Given the description of an element on the screen output the (x, y) to click on. 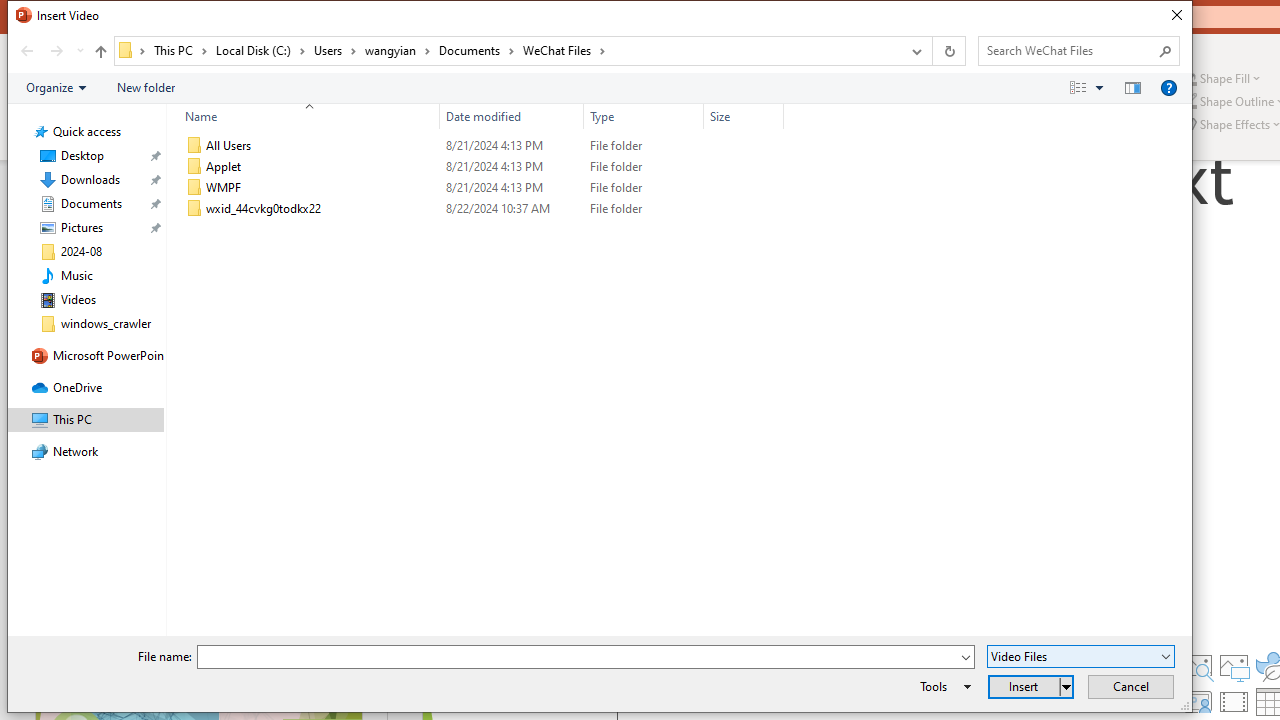
All locations (132, 50)
Navigation buttons (50, 51)
Forward (Alt + Right Arrow) (56, 51)
Type (643, 115)
Tools (942, 686)
Search Box (1069, 50)
Date modified (511, 209)
Command Module (599, 87)
Local Disk (C:) (260, 50)
Organize (56, 87)
